Given the description of an element on the screen output the (x, y) to click on. 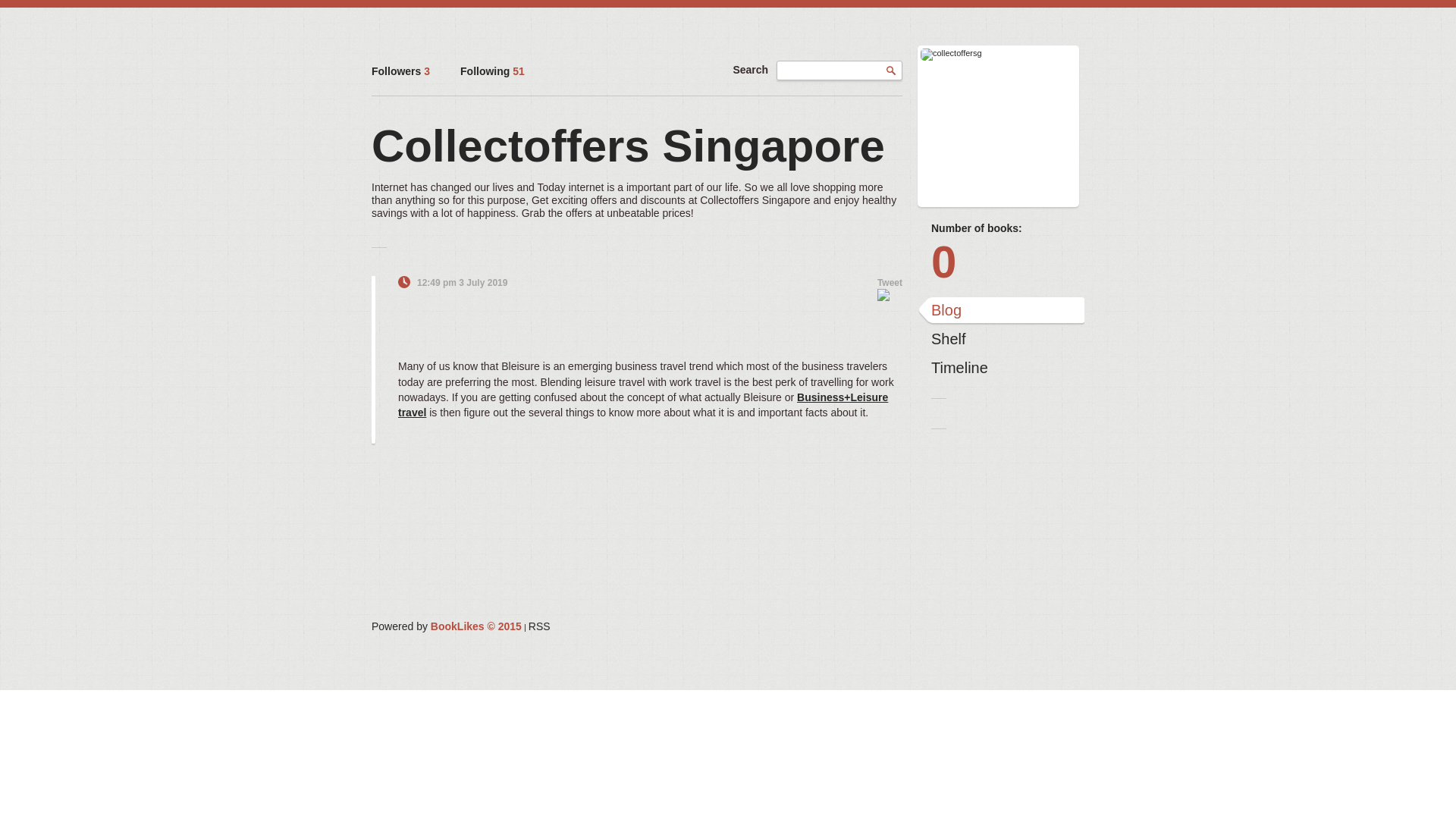
Tweet (889, 282)
Number of books: (1000, 228)
Collectoffers Singapore (628, 145)
RSS (539, 625)
Following 51 (492, 70)
Shelf (1000, 339)
12:49 pm 3 July 2019 (461, 282)
Blog (1000, 311)
0 (1000, 262)
Followers 3 (400, 70)
